Given the description of an element on the screen output the (x, y) to click on. 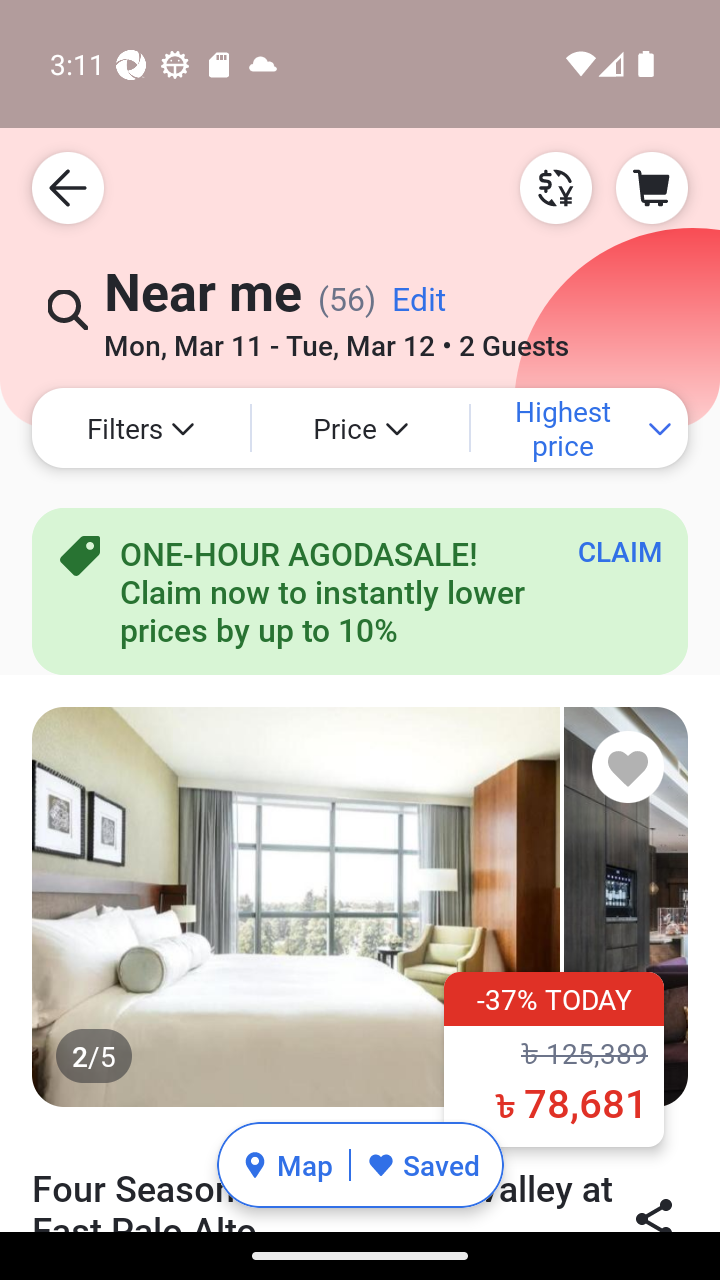
Mon, Mar 11 - Tue, Mar 12 • 2 Guests (336, 338)
Filters (140, 428)
Price (359, 428)
Highest price (579, 428)
CLAIM (620, 551)
2/5 (359, 906)
-37% TODAY ‪৳ 125,389 ‪৳ 78,681 (553, 1058)
Map Saved (359, 1165)
